Given the description of an element on the screen output the (x, y) to click on. 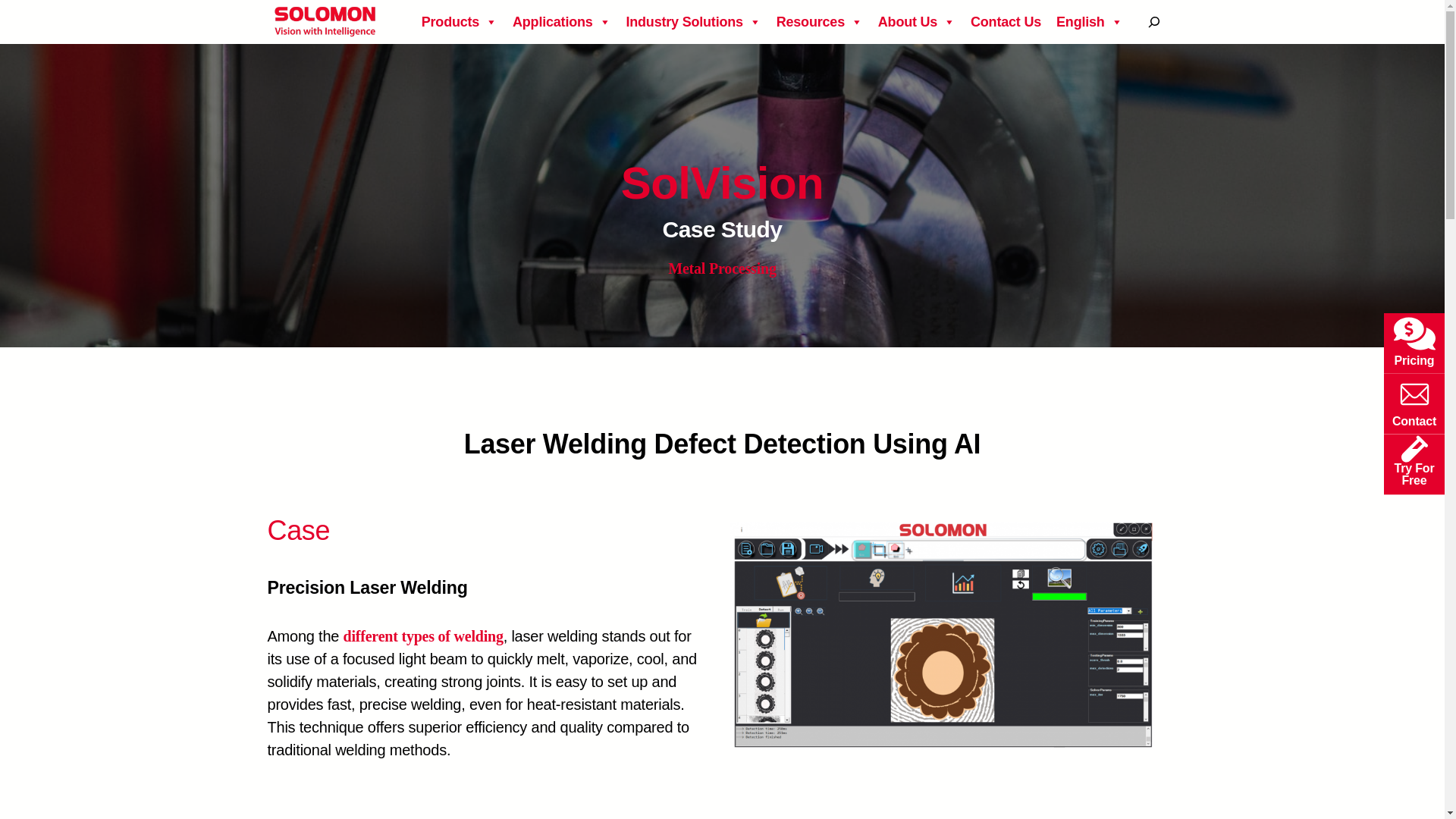
Applications (561, 22)
Laser welding inspection using SolVision (941, 635)
Industry Solutions (692, 22)
Products (459, 22)
